Given the description of an element on the screen output the (x, y) to click on. 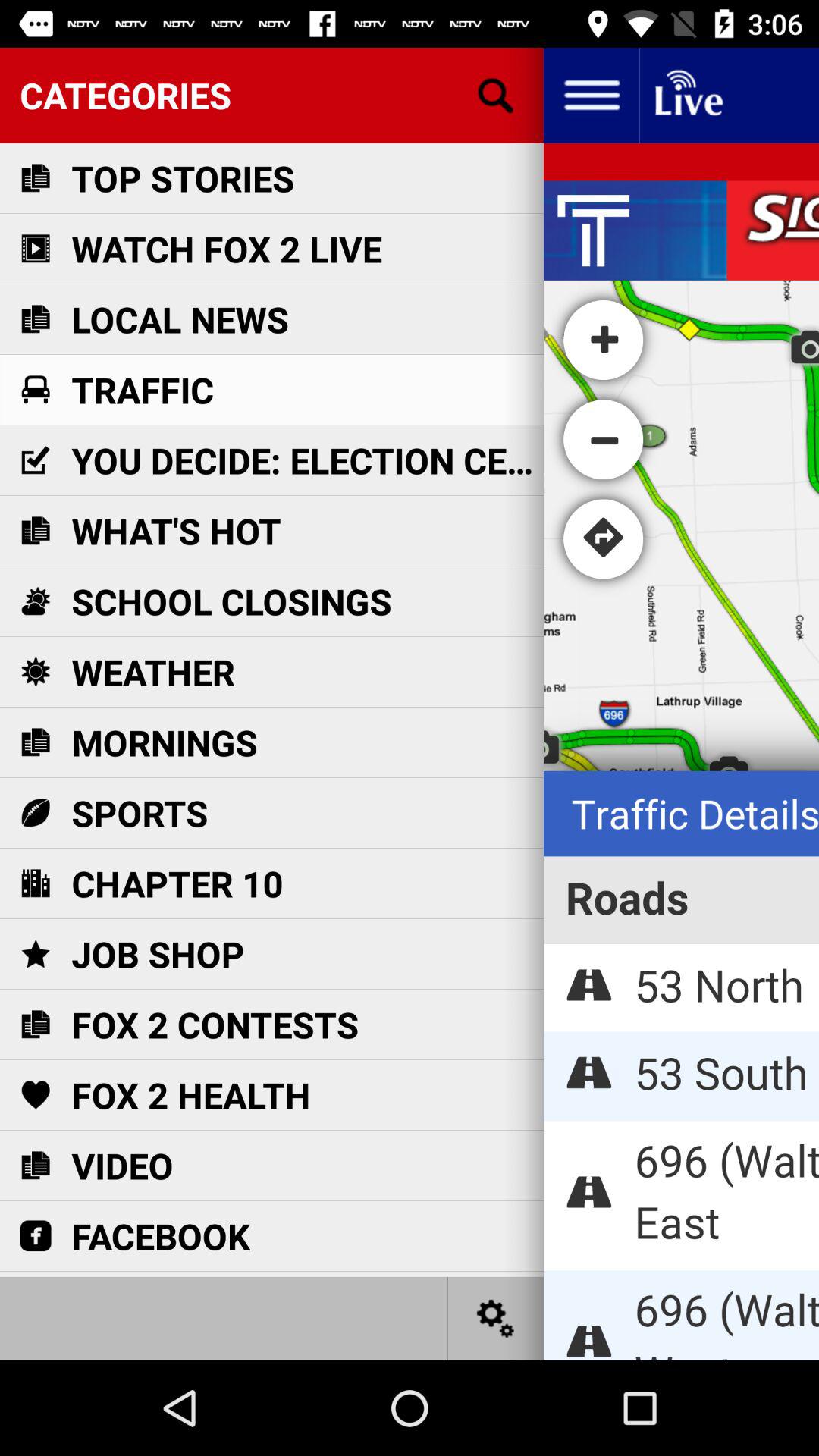
open settings (495, 1318)
